Given the description of an element on the screen output the (x, y) to click on. 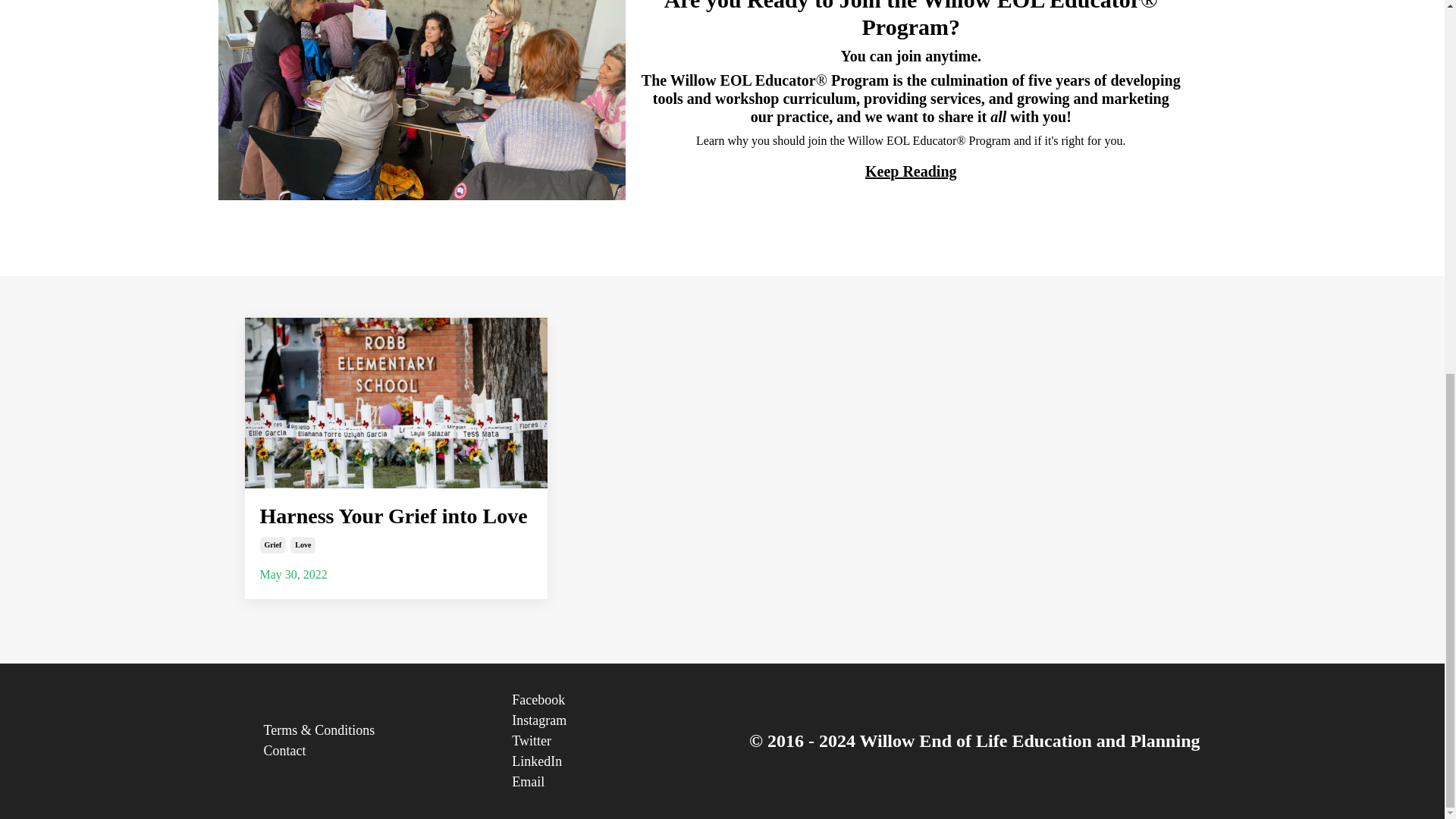
Twitter (617, 741)
Love (302, 545)
Harness Your Grief into Love (395, 516)
Contact (368, 751)
LinkedIn (617, 761)
Email (617, 782)
Facebook (617, 700)
You can join anytime. (910, 55)
Keep Reading (910, 170)
Instagram (617, 720)
Grief (272, 545)
